Given the description of an element on the screen output the (x, y) to click on. 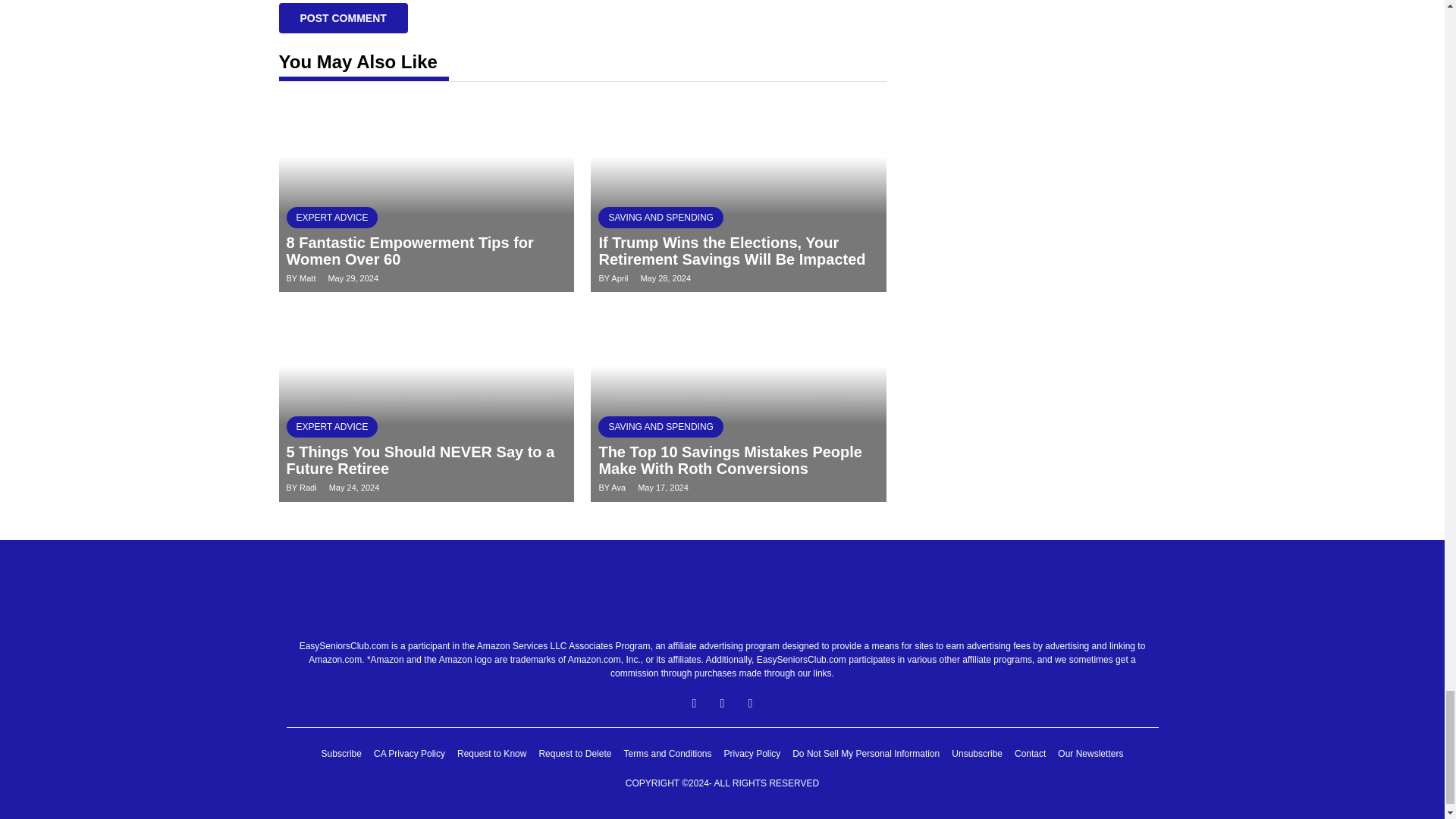
5 Things You Should NEVER Say to a Future Retiree (420, 459)
Post Comment (343, 18)
8 Fantastic Empowerment Tips for Women Over 60 (410, 250)
Post Comment (343, 18)
